Given the description of an element on the screen output the (x, y) to click on. 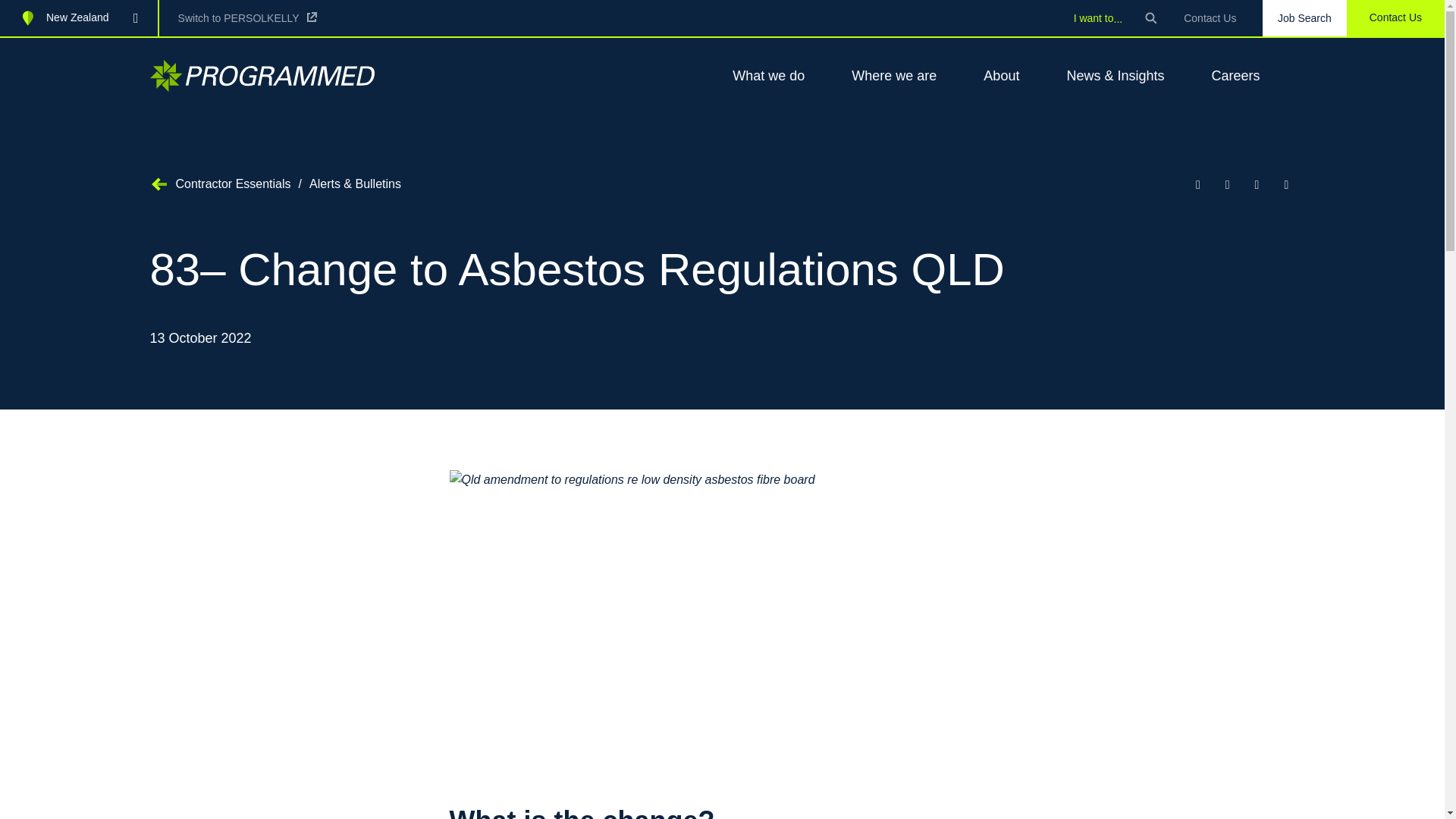
Switch to PERSOLKELLY (247, 17)
Contact Us (1209, 18)
What we do (762, 75)
Job Search (1304, 18)
I want to (1098, 17)
Programmed NZ (261, 75)
New Zealand (78, 18)
